Given the description of an element on the screen output the (x, y) to click on. 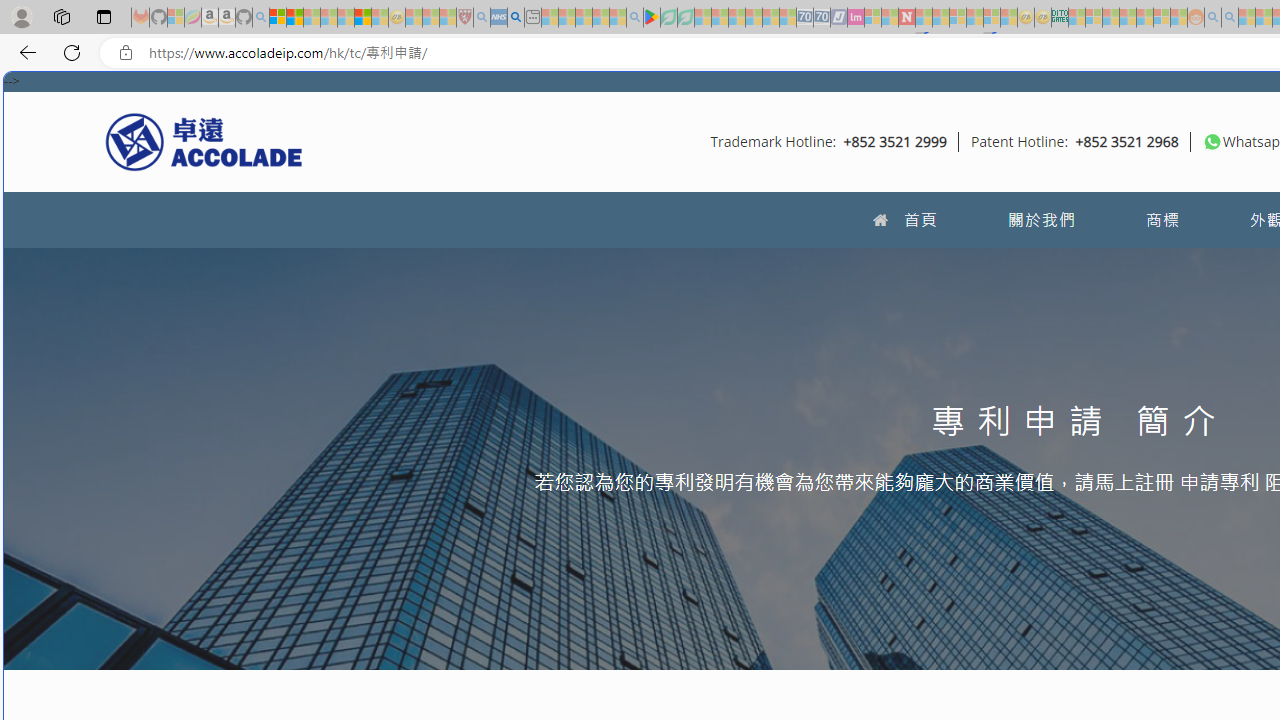
Accolade IP HK Logo (203, 141)
